Given the description of an element on the screen output the (x, y) to click on. 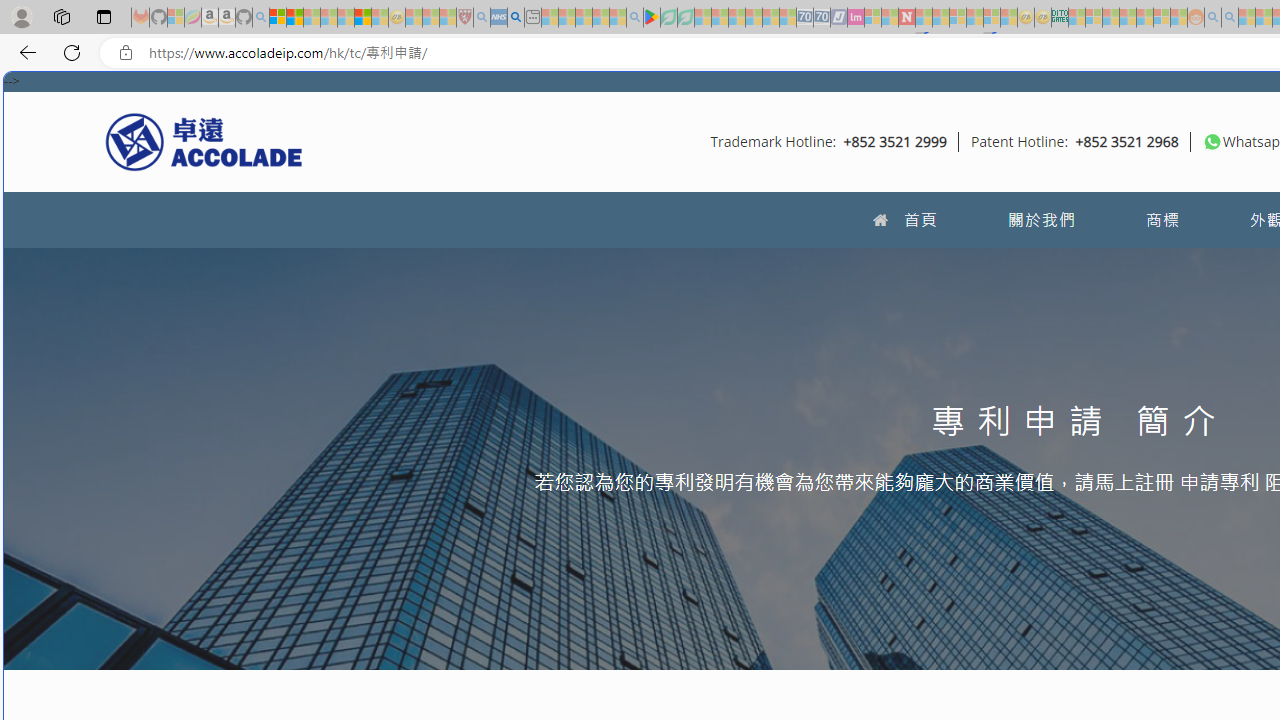
Accolade IP HK Logo (203, 141)
